Given the description of an element on the screen output the (x, y) to click on. 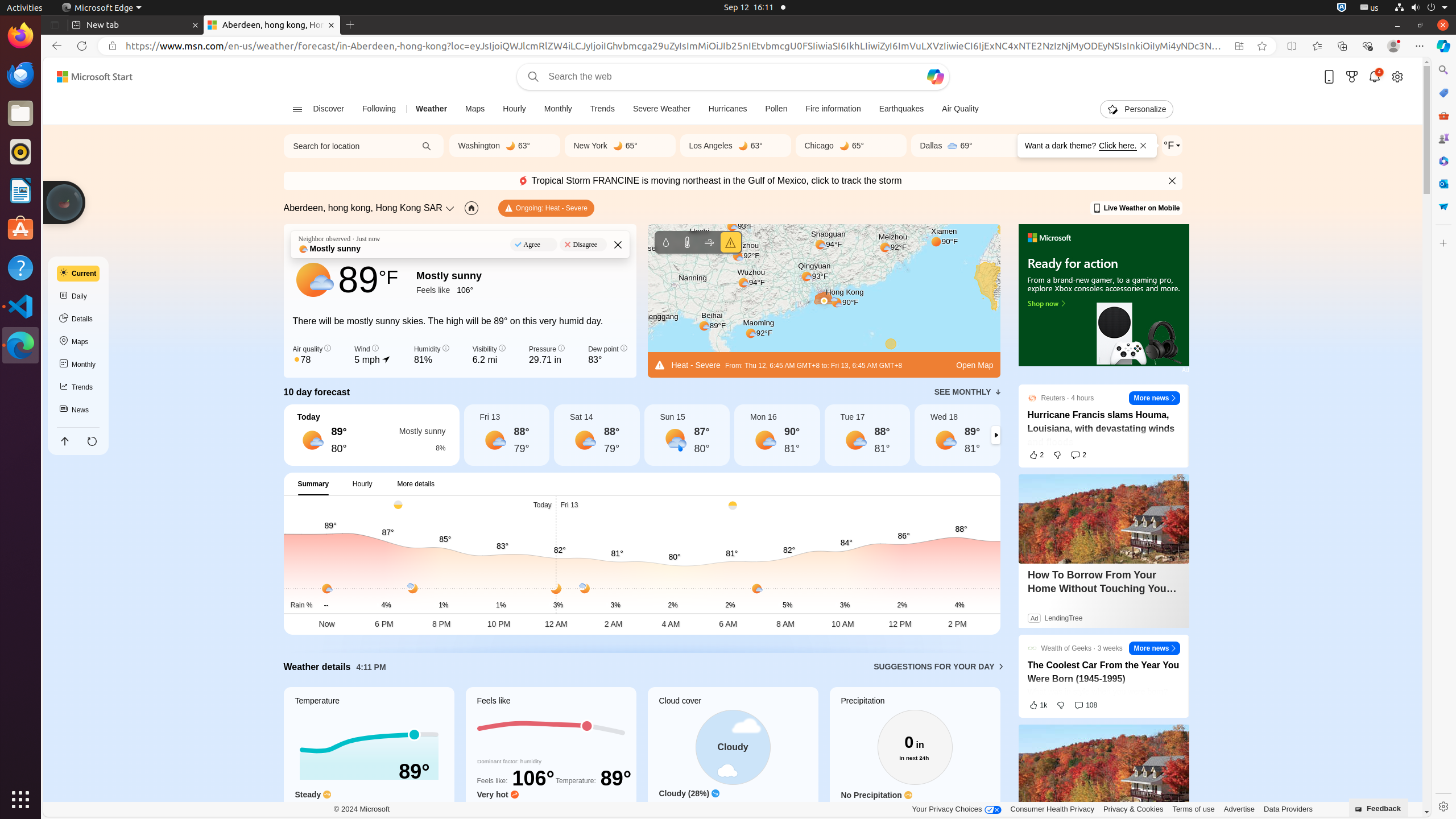
How To Borrow From Your Home Without Touching Your Mortgage Element type: link (1103, 581)
LibreOffice Writer Element type: push-button (20, 190)
Favorites Element type: push-button (1316, 45)
